Given the description of an element on the screen output the (x, y) to click on. 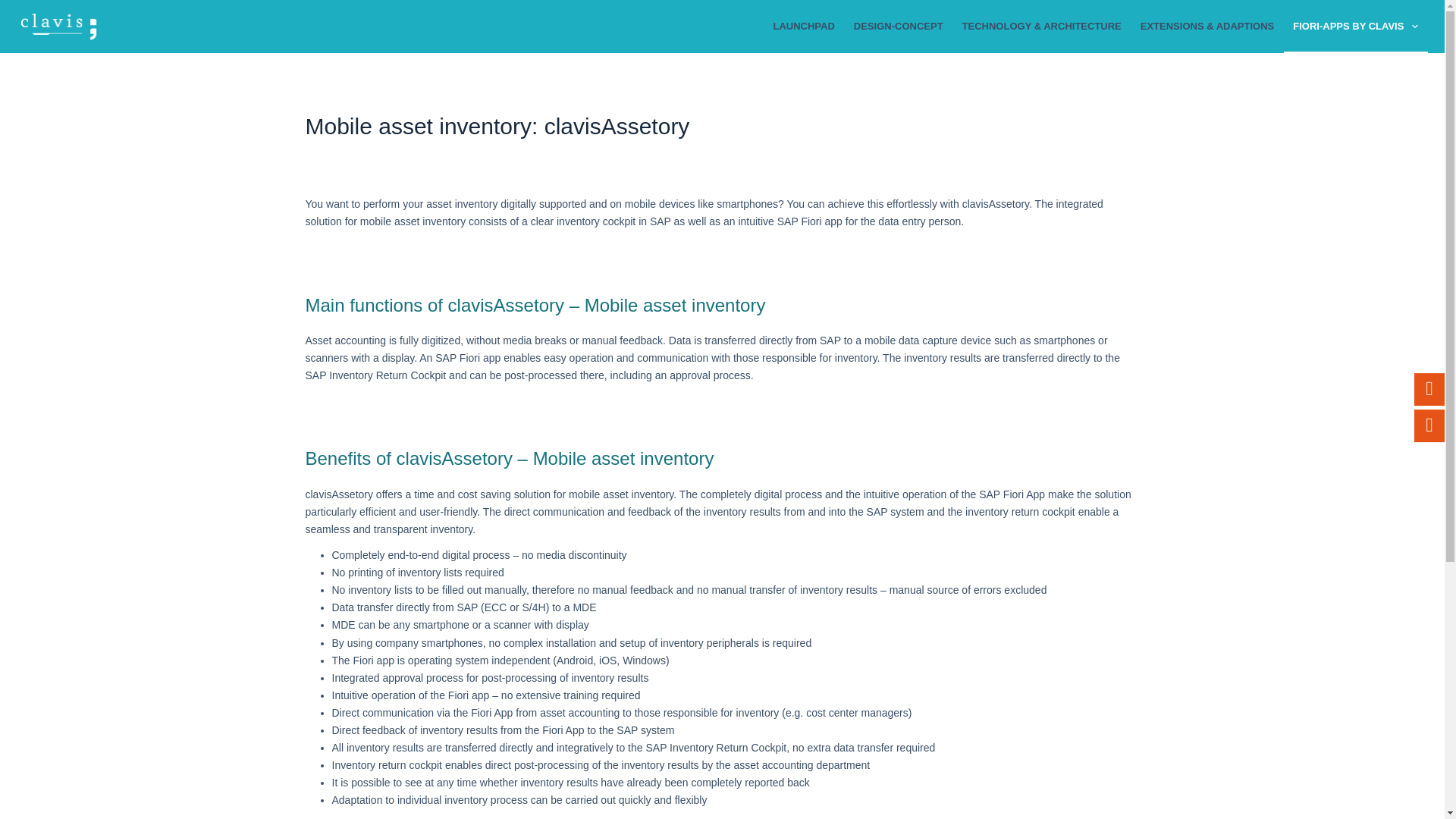
DESIGN-CONCEPT (898, 26)
Zum Inhalt springen (15, 7)
FIORI-APPS BY CLAVIS (1356, 26)
LAUNCHPAD (803, 26)
